Given the description of an element on the screen output the (x, y) to click on. 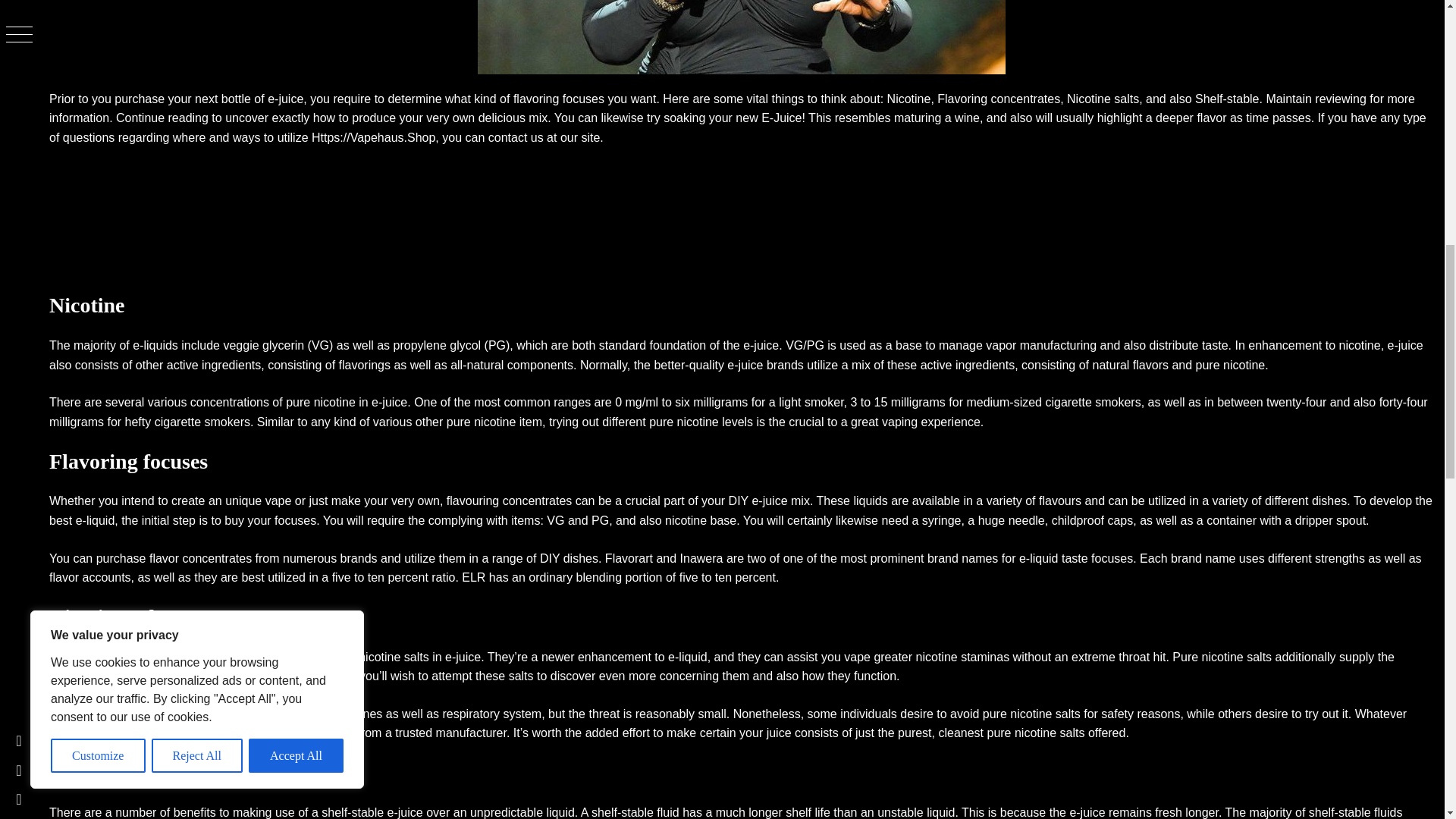
milligrams (720, 401)
e-liquid taste (1053, 558)
